Given the description of an element on the screen output the (x, y) to click on. 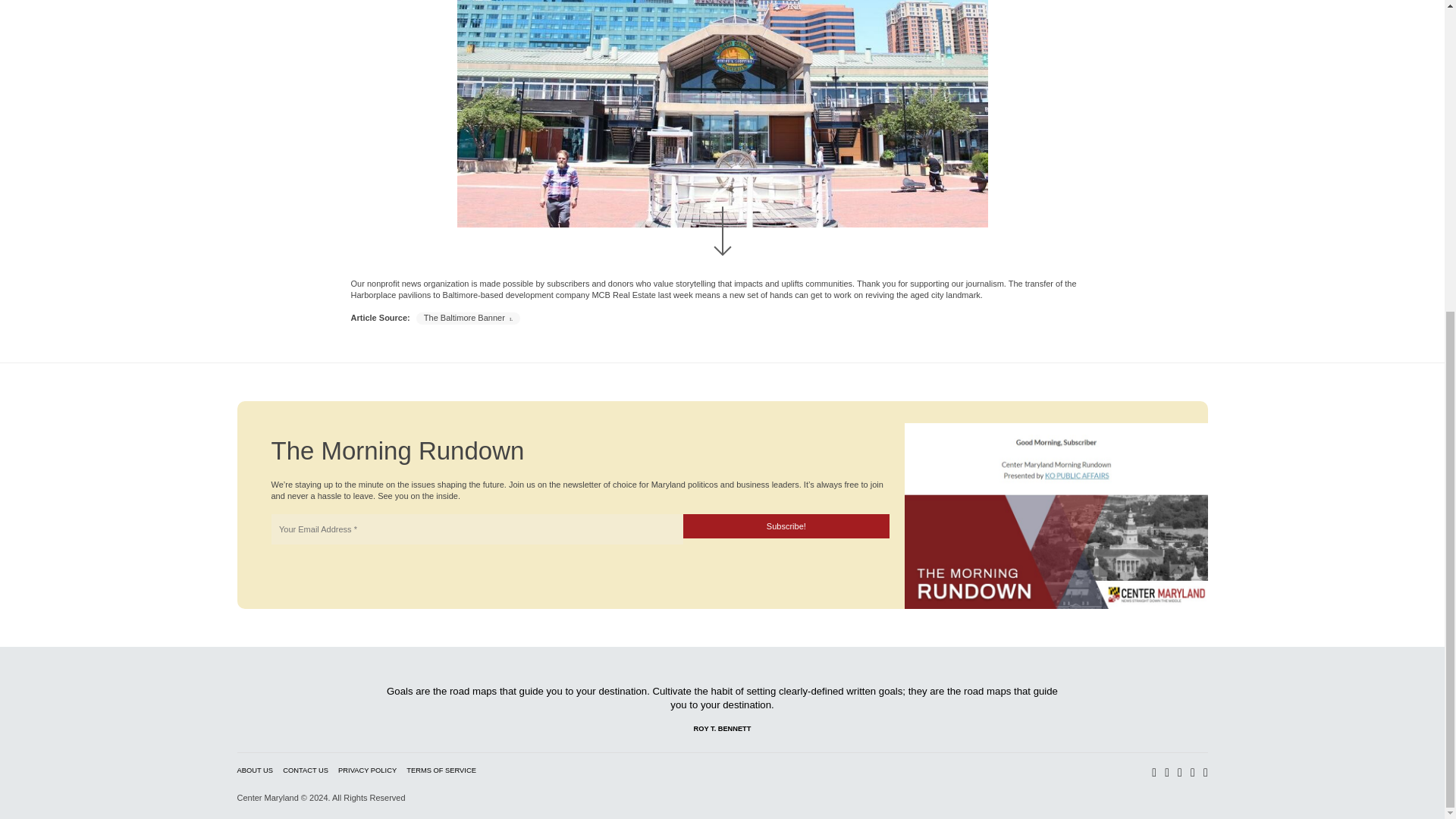
Subscribe! (785, 526)
ABOUT US (254, 769)
Subscribe! (785, 526)
PRIVACY POLICY (366, 769)
CONTACT US (305, 769)
Your Email Address (476, 529)
TERMS OF SERVICE (441, 769)
The Baltimore Banner (467, 317)
